Given the description of an element on the screen output the (x, y) to click on. 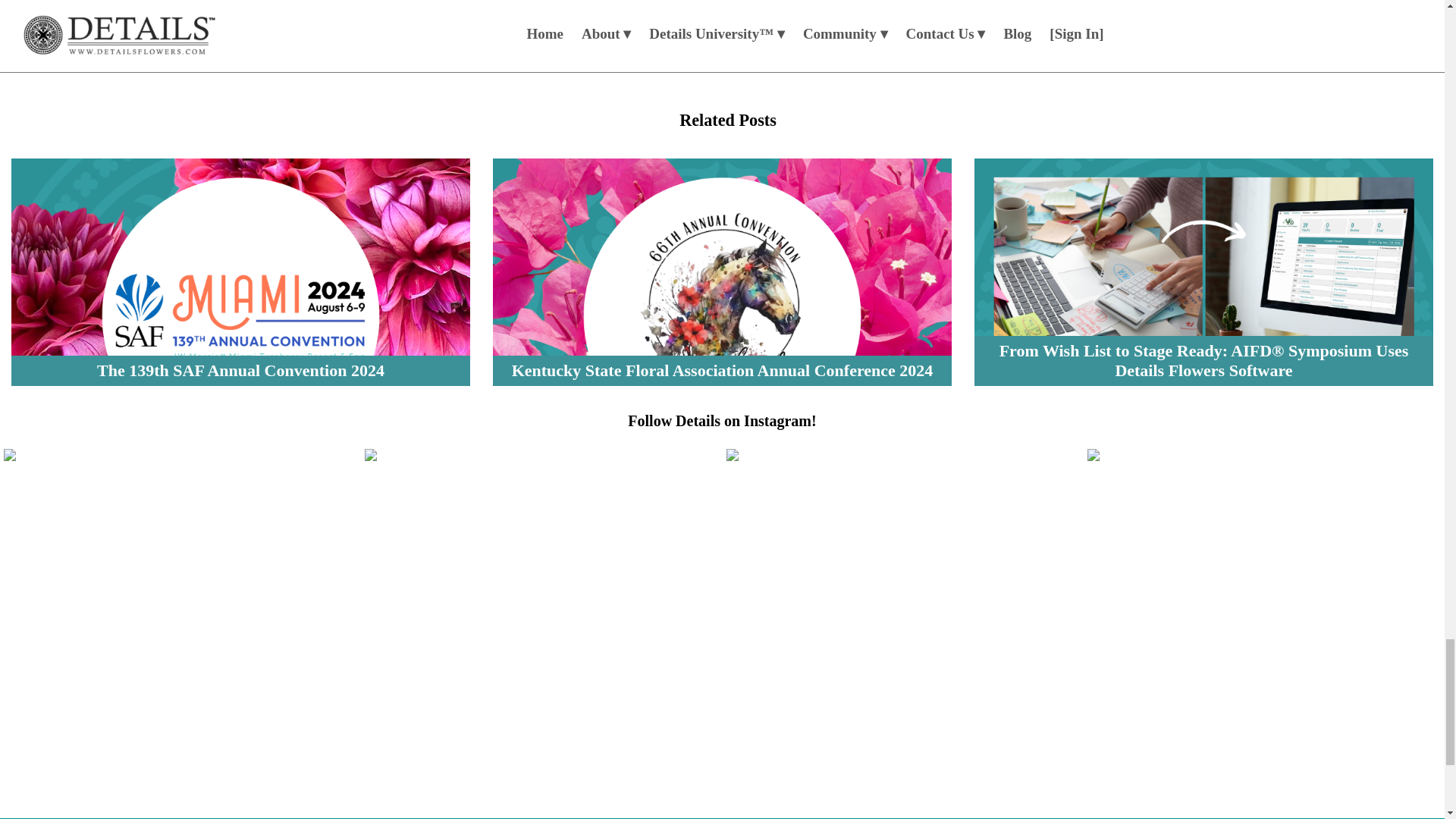
Previous (562, 29)
Next (676, 29)
The 139th SAF Annual Convention 2024 (240, 271)
